Given the description of an element on the screen output the (x, y) to click on. 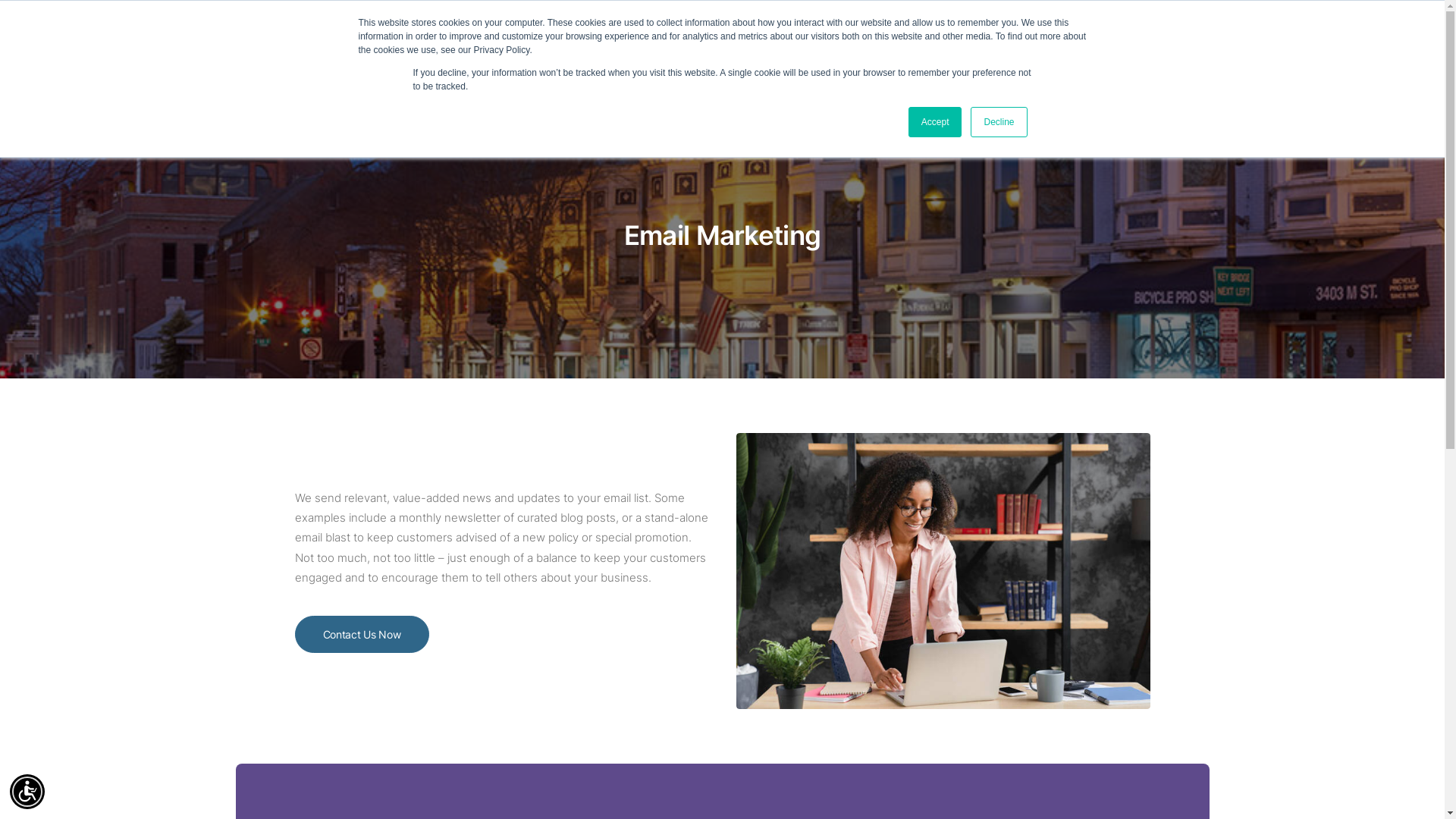
Services Element type: text (836, 45)
Contact Us Now Element type: text (361, 633)
Blog Element type: text (895, 45)
Home Element type: text (565, 45)
About Us Element type: text (623, 45)
Decline Element type: text (998, 121)
Accept Element type: text (935, 121)
Contact Us Element type: text (1360, 45)
